Given the description of an element on the screen output the (x, y) to click on. 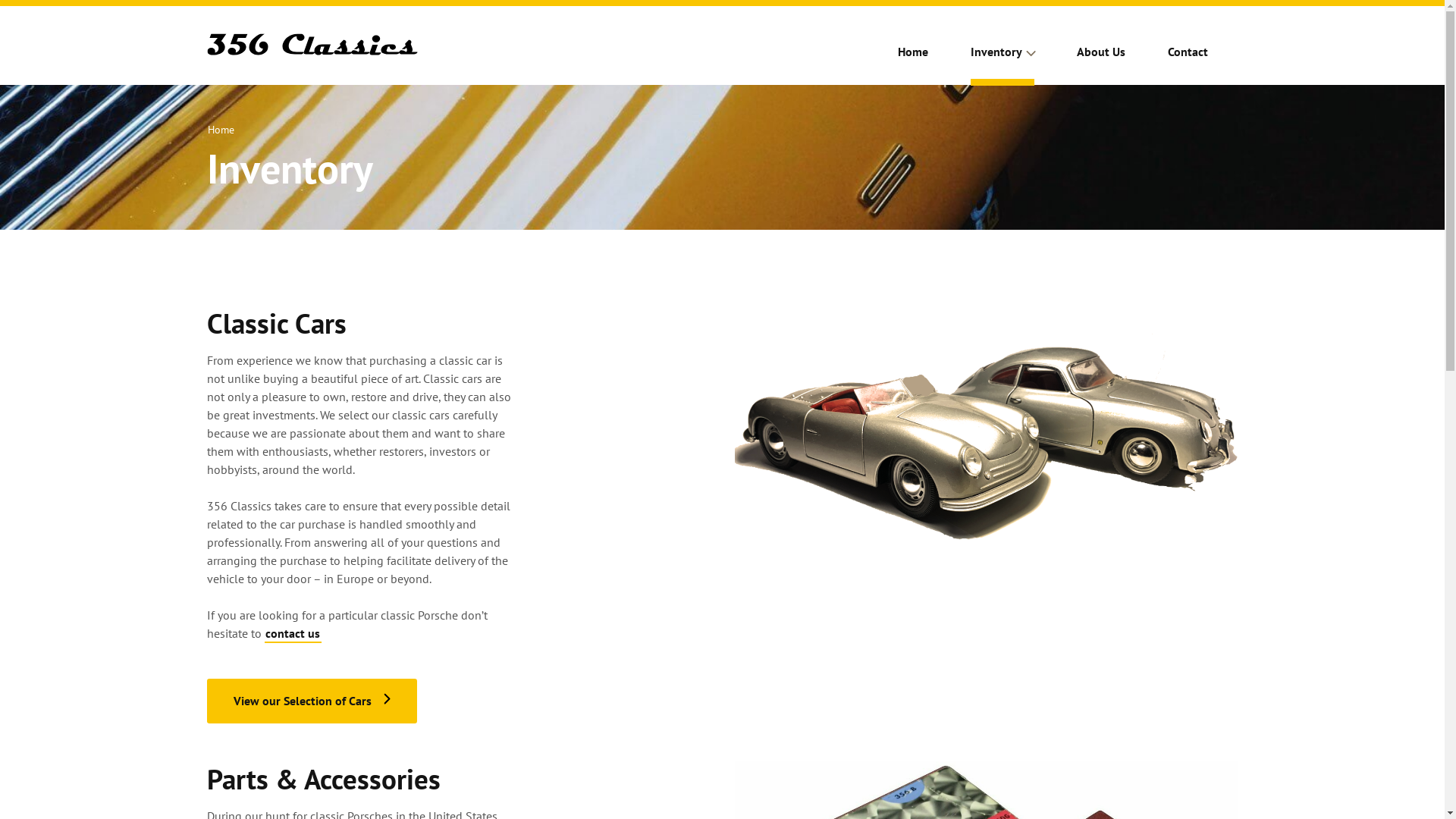
contact us Element type: text (291, 633)
Home Element type: text (220, 128)
Home Element type: text (921, 57)
Inventory Element type: text (1011, 57)
Contact Element type: text (1196, 57)
View our Selection of Cars Element type: text (311, 700)
About Us Element type: text (1109, 57)
